Given the description of an element on the screen output the (x, y) to click on. 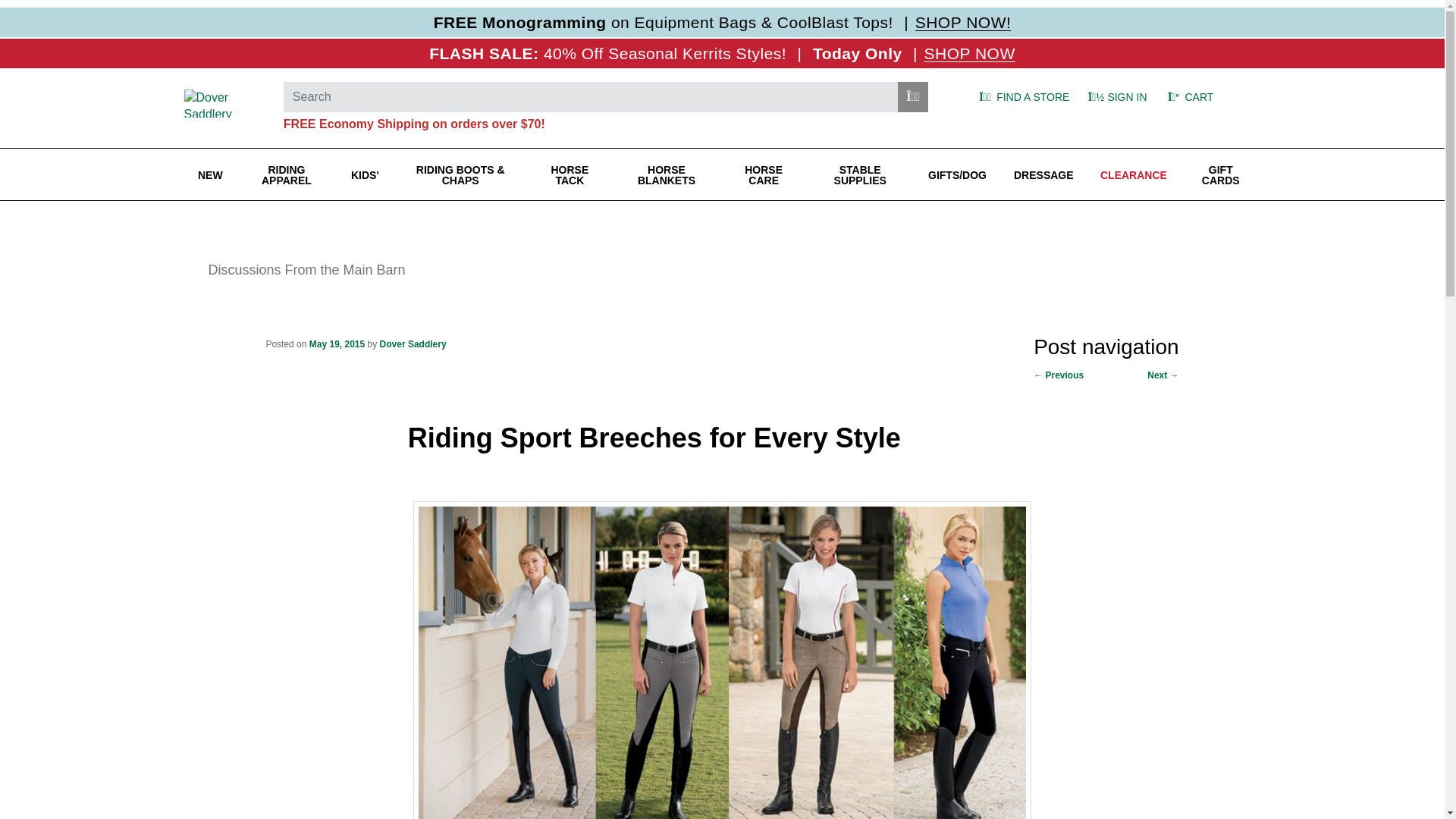
9:00 am (336, 344)
CART (1206, 97)
FIND A STORE (1021, 97)
RIDING APPAREL (286, 174)
NEW (209, 174)
View all posts by Dover Saddlery (413, 344)
SIGN IN (1115, 97)
